Given the description of an element on the screen output the (x, y) to click on. 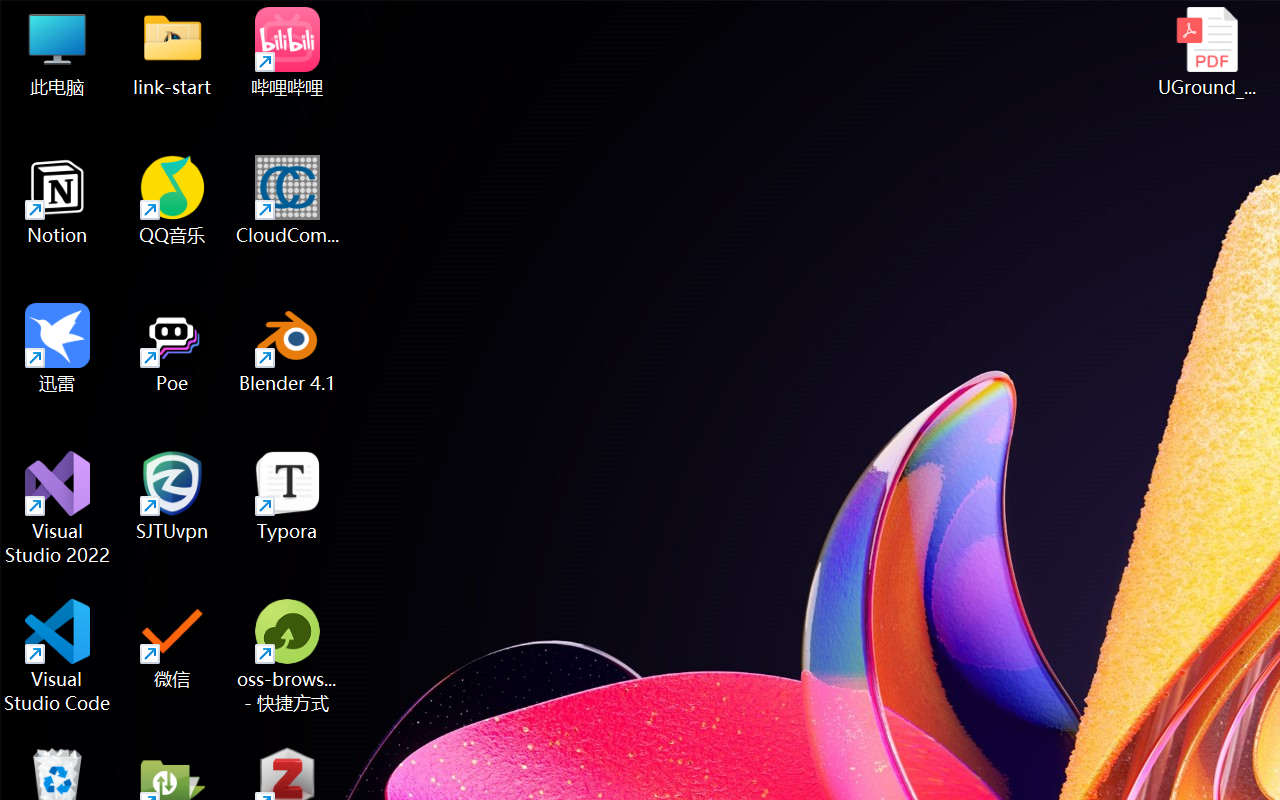
Visual Studio Code (57, 656)
SJTUvpn (172, 496)
Visual Studio 2022 (57, 508)
Typora (287, 496)
CloudCompare (287, 200)
Blender 4.1 (287, 348)
UGround_paper.pdf (1206, 52)
